Given the description of an element on the screen output the (x, y) to click on. 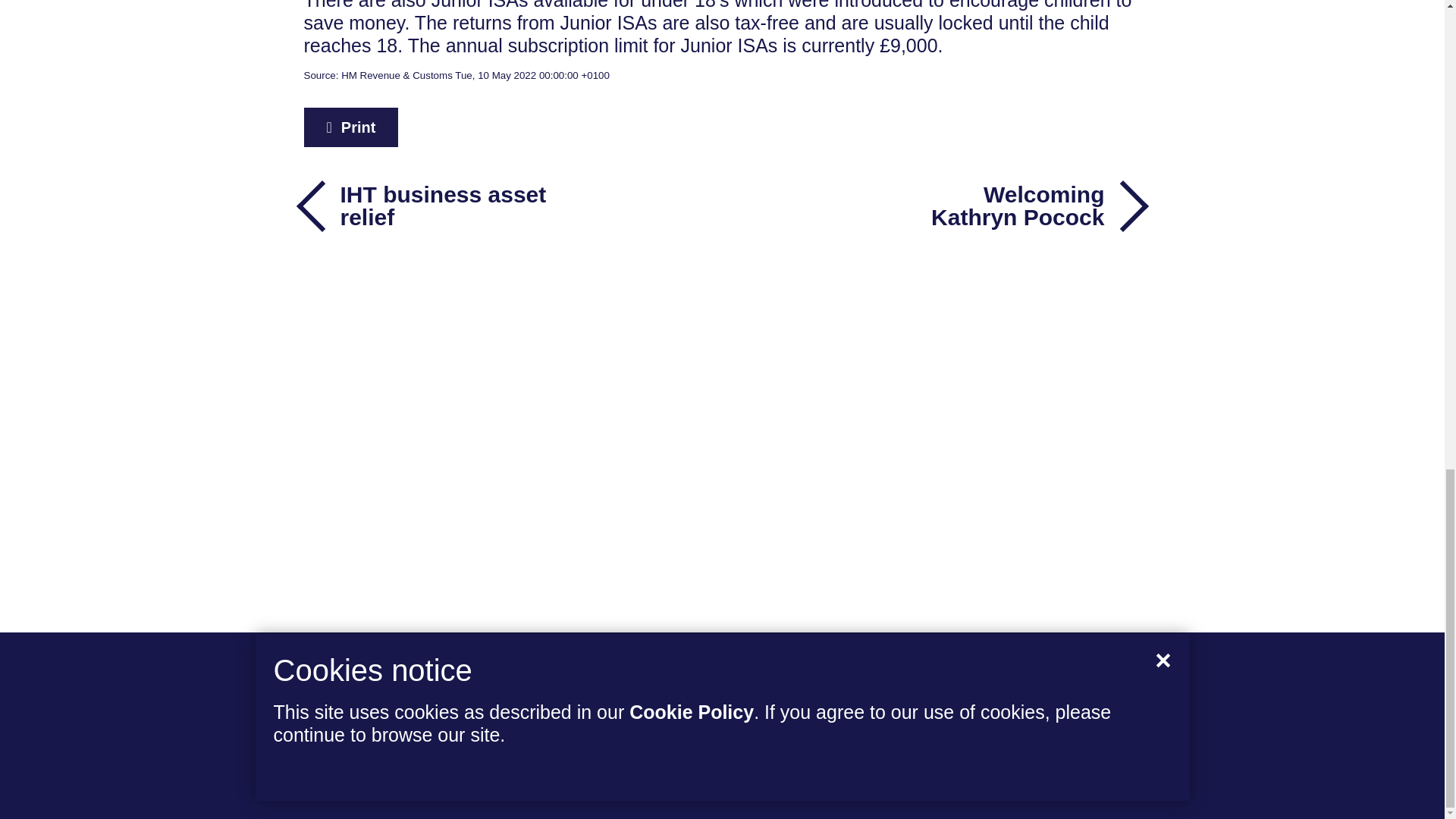
Get Our Newsletter (400, 728)
Welcoming Kathryn Pocock (1019, 206)
IHT business asset relief (424, 206)
IHT business asset relief (424, 206)
MCC (1116, 730)
Privacy policy (895, 789)
www.auditregister.org.uk (575, 789)
Join Our Team (379, 690)
Welcoming Kathryn Pocock (1019, 206)
